Given the description of an element on the screen output the (x, y) to click on. 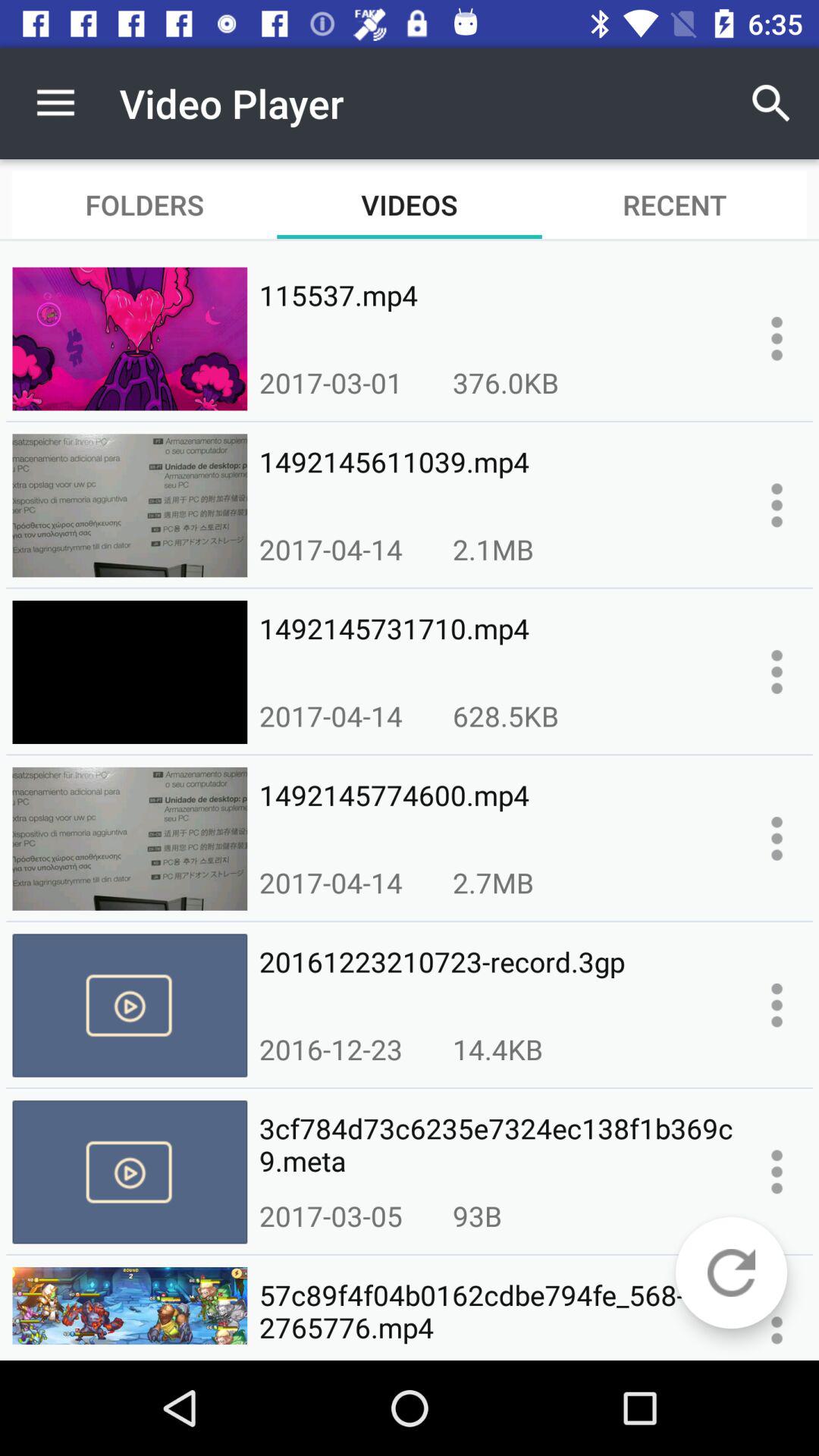
options (776, 505)
